Given the description of an element on the screen output the (x, y) to click on. 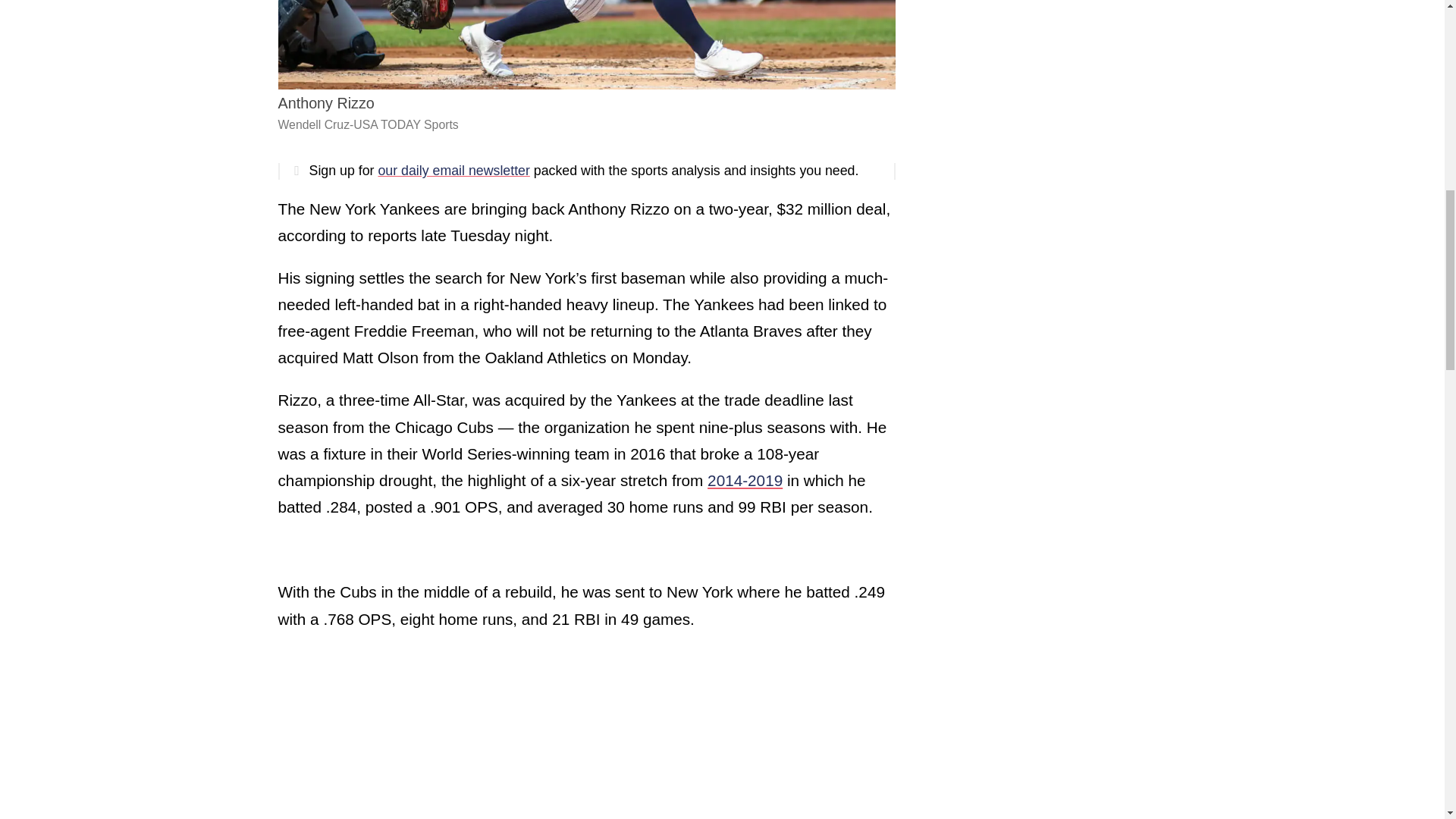
Rizzo rakes! Anthony Rizzo CRUSHES homer in Yankees debut! (467, 733)
